Given the description of an element on the screen output the (x, y) to click on. 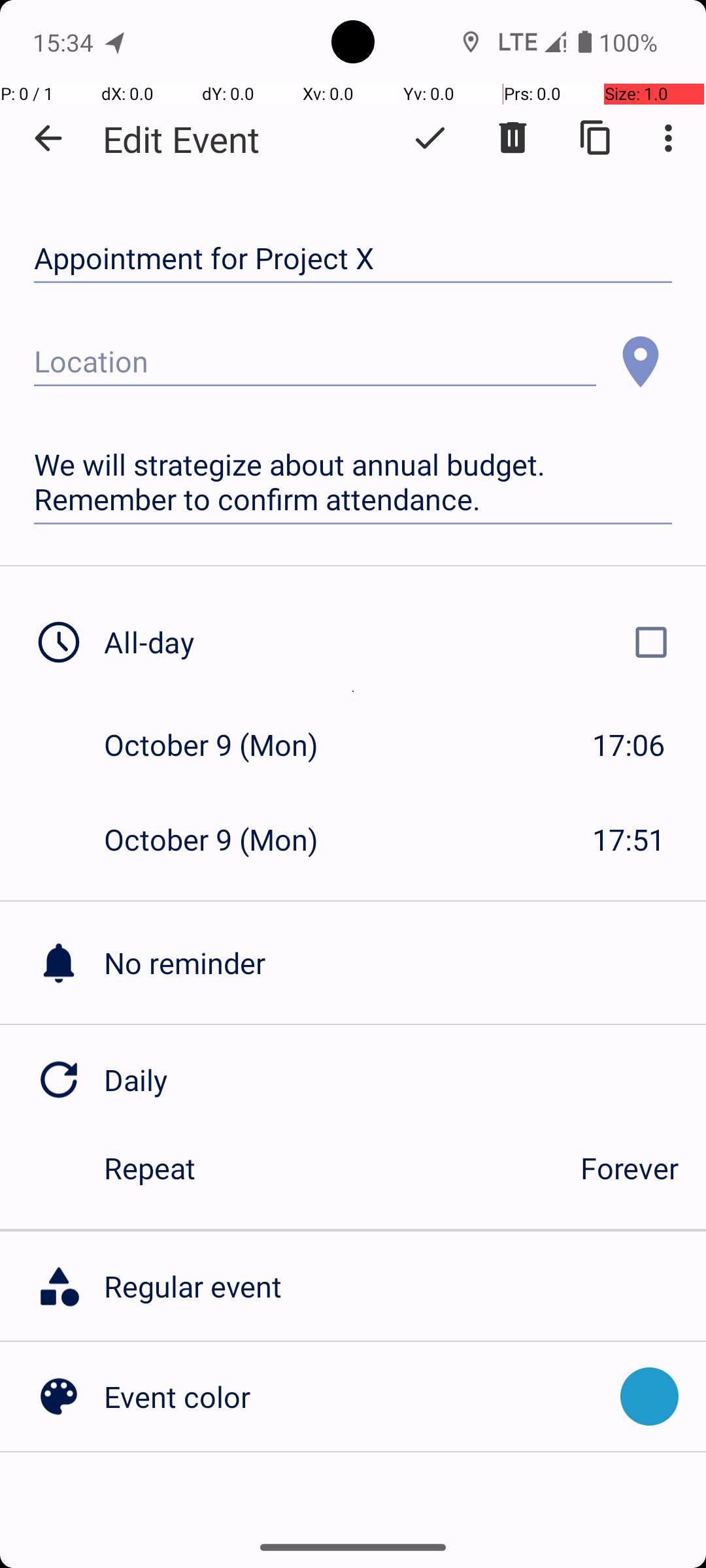
We will strategize about annual budget. Remember to confirm attendance. Element type: android.widget.EditText (352, 482)
October 9 (Mon) Element type: android.widget.TextView (224, 744)
17:06 Element type: android.widget.TextView (628, 744)
17:51 Element type: android.widget.TextView (628, 838)
Repeat Element type: android.widget.TextView (328, 1167)
Forever Element type: android.widget.TextView (629, 1167)
